Given the description of an element on the screen output the (x, y) to click on. 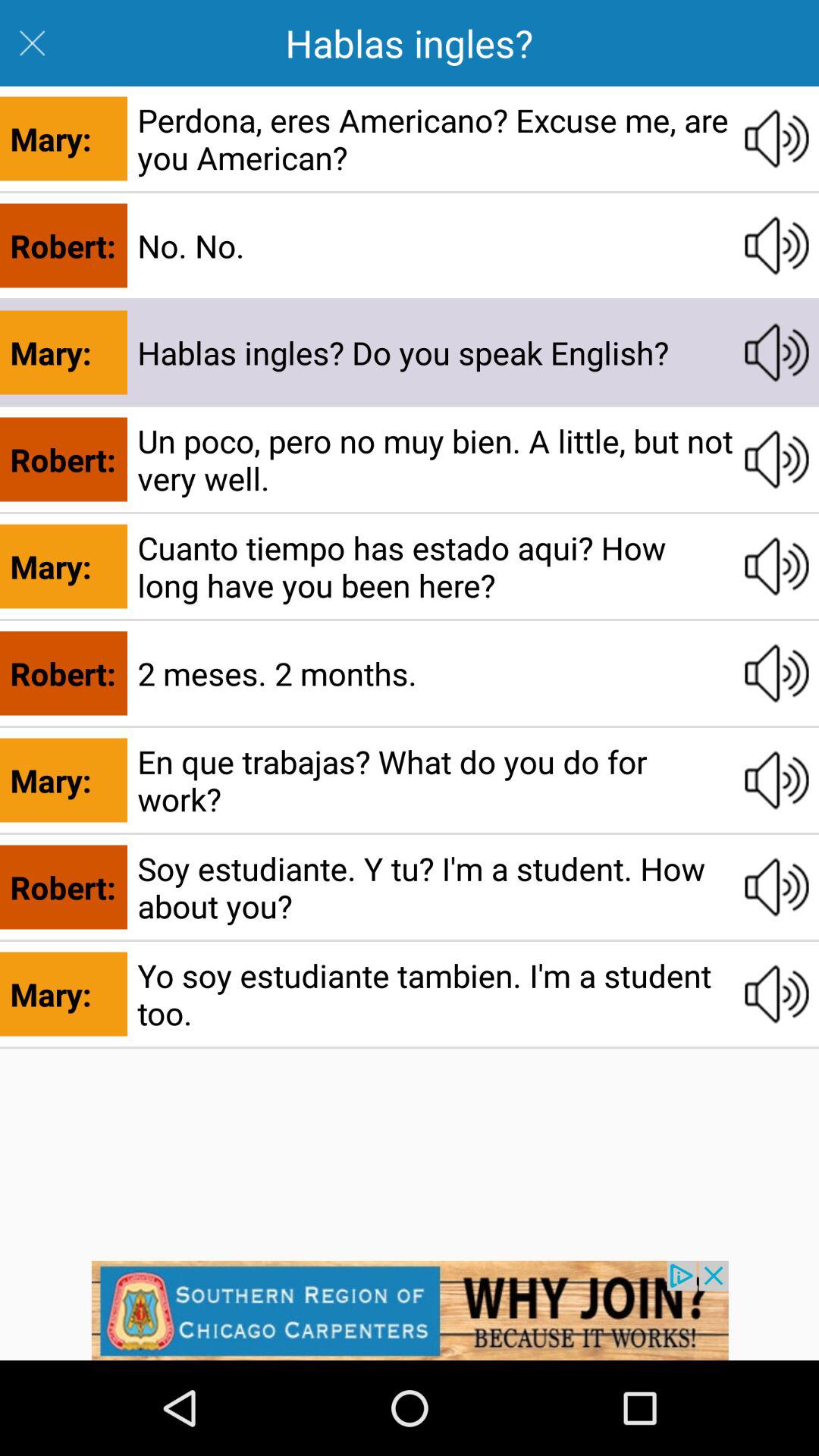
play the audio (776, 566)
